Given the description of an element on the screen output the (x, y) to click on. 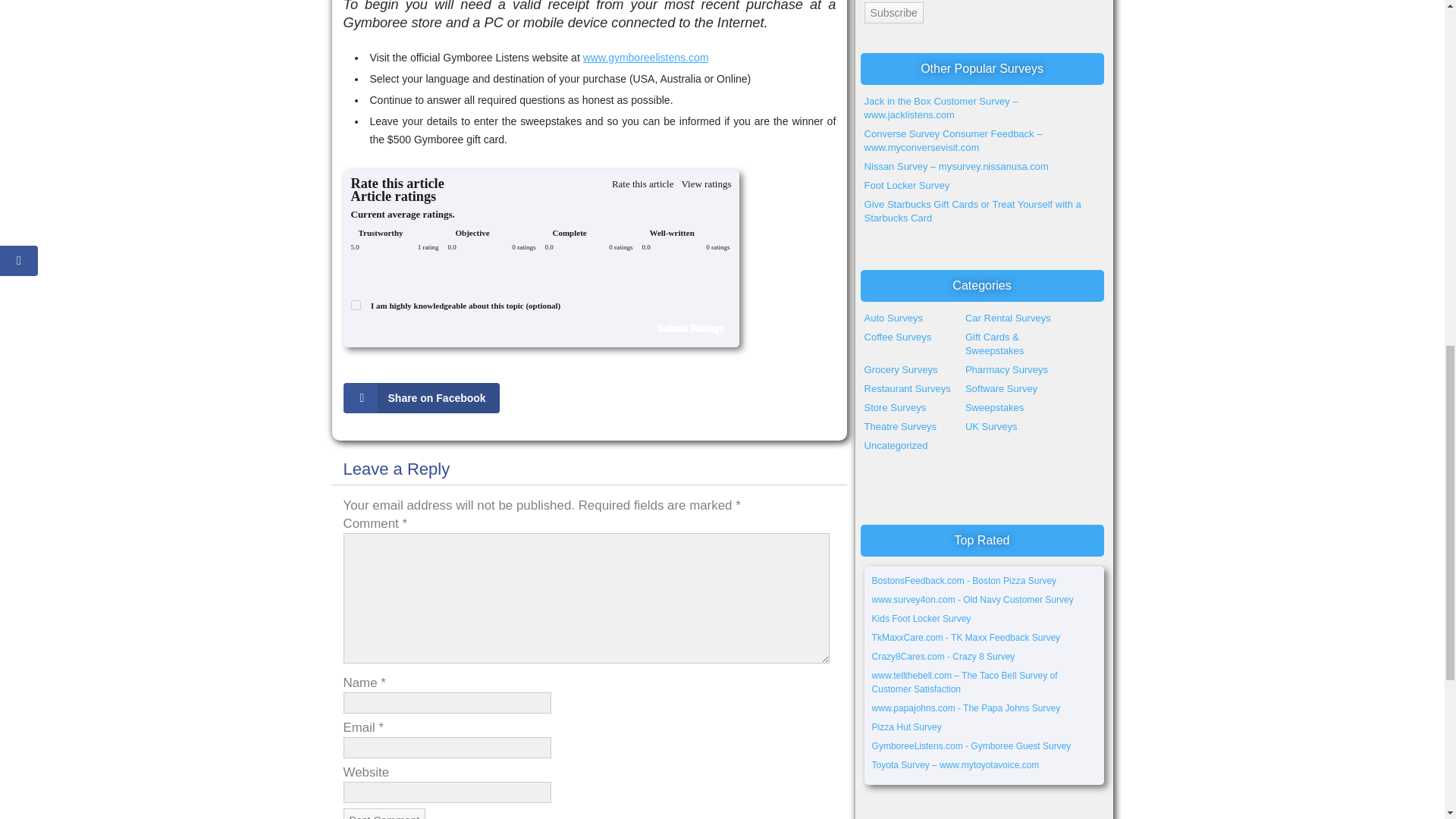
Pharmacy Surveys (1006, 369)
Store Surveys (895, 407)
Grocery Surveys (900, 369)
Foot Locker Survey (907, 184)
Post Comment (383, 813)
Coffee Surveys (897, 337)
Post Comment (383, 813)
Software Survey (1000, 388)
Restaurant Surveys (907, 388)
